Given the description of an element on the screen output the (x, y) to click on. 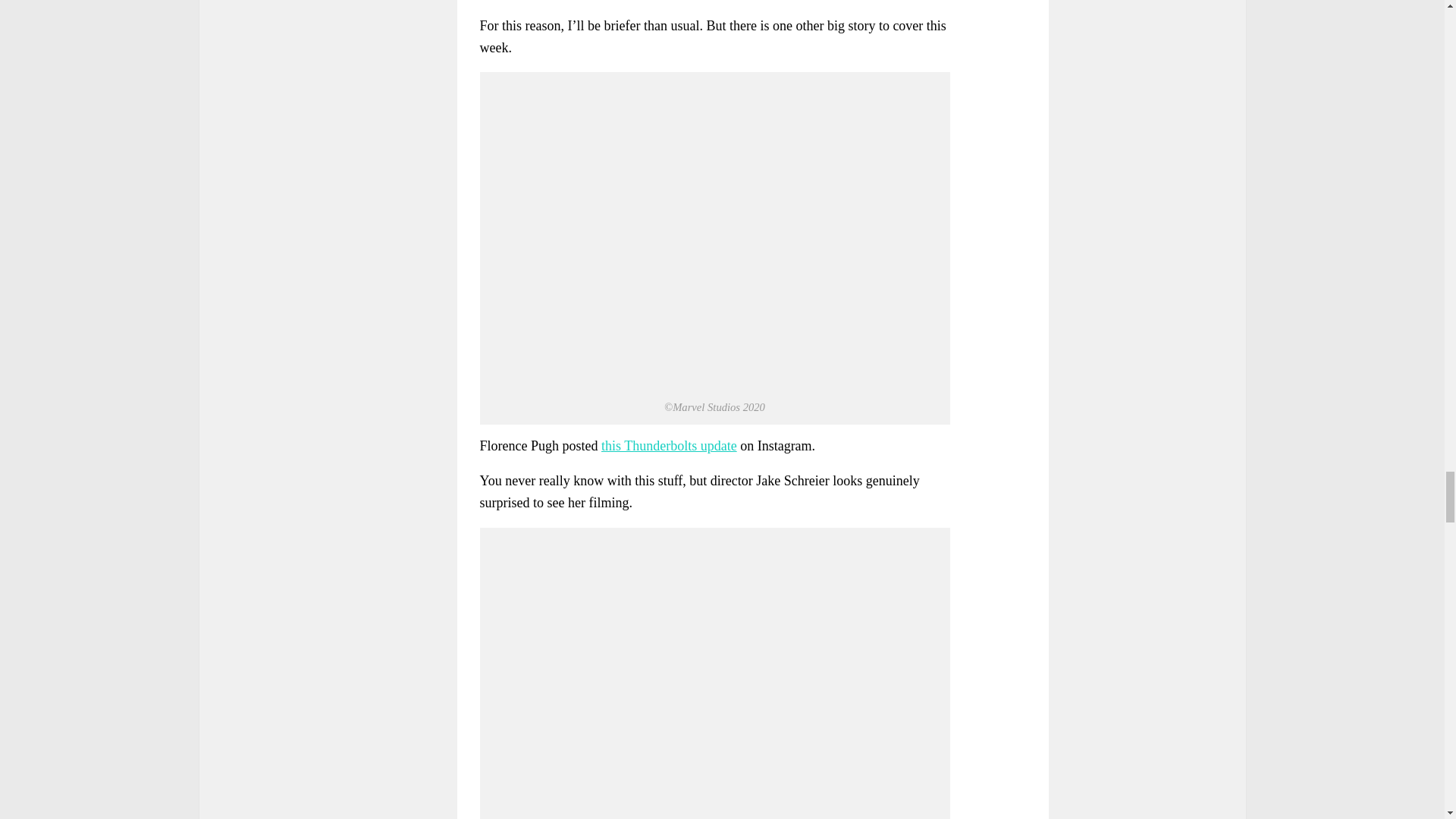
this Thunderbolts update (668, 445)
